Given the description of an element on the screen output the (x, y) to click on. 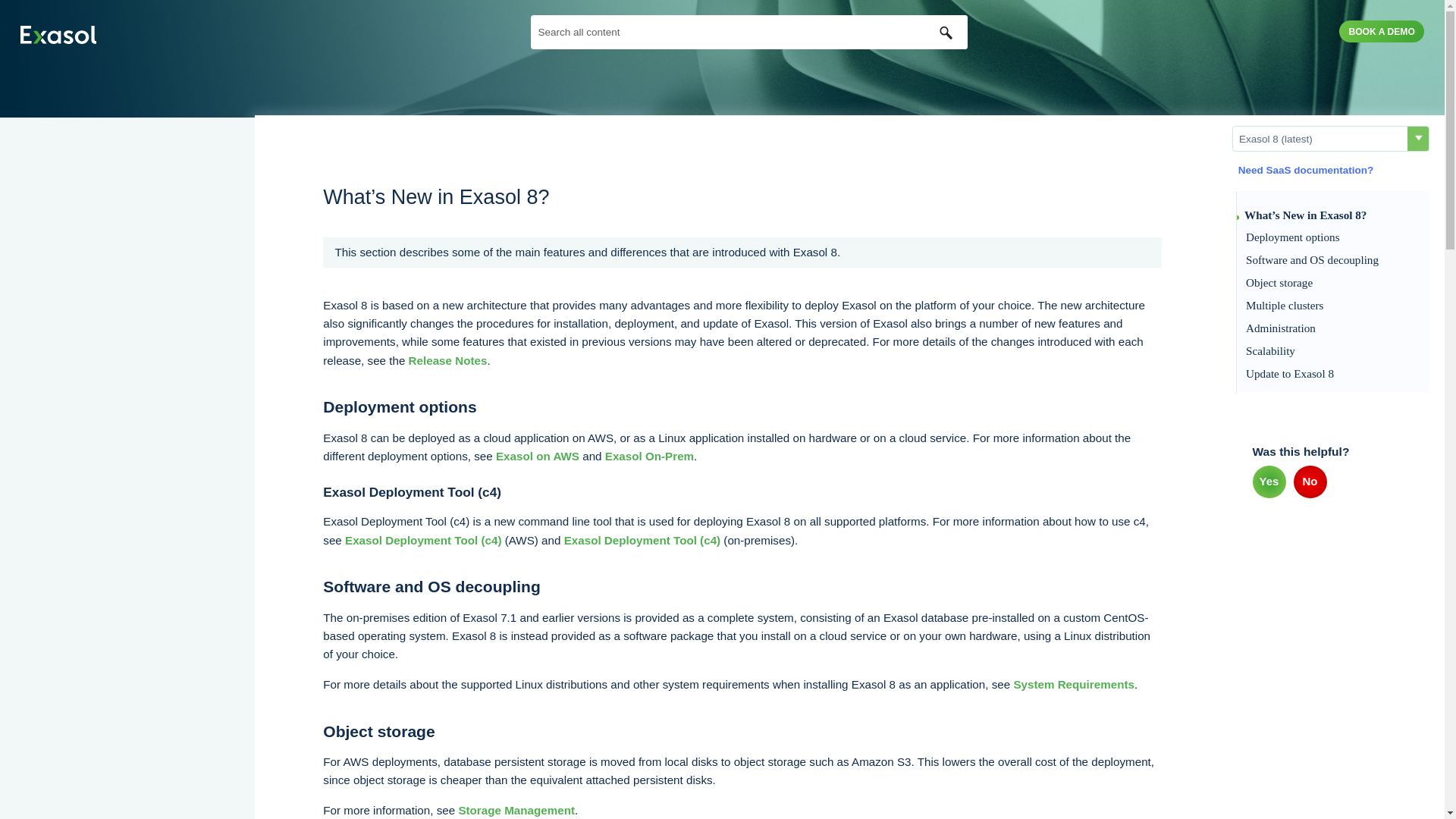
Exasol on AWS (537, 455)
Need SaaS documentation? (1303, 170)
BOOK A DEMO (1381, 31)
Storage Management (516, 809)
Search (946, 32)
System Requirements (1073, 684)
Release Notes (448, 359)
Deployment options (1333, 237)
Software and OS decoupling (1333, 259)
Exasol On-Prem (649, 455)
